Given the description of an element on the screen output the (x, y) to click on. 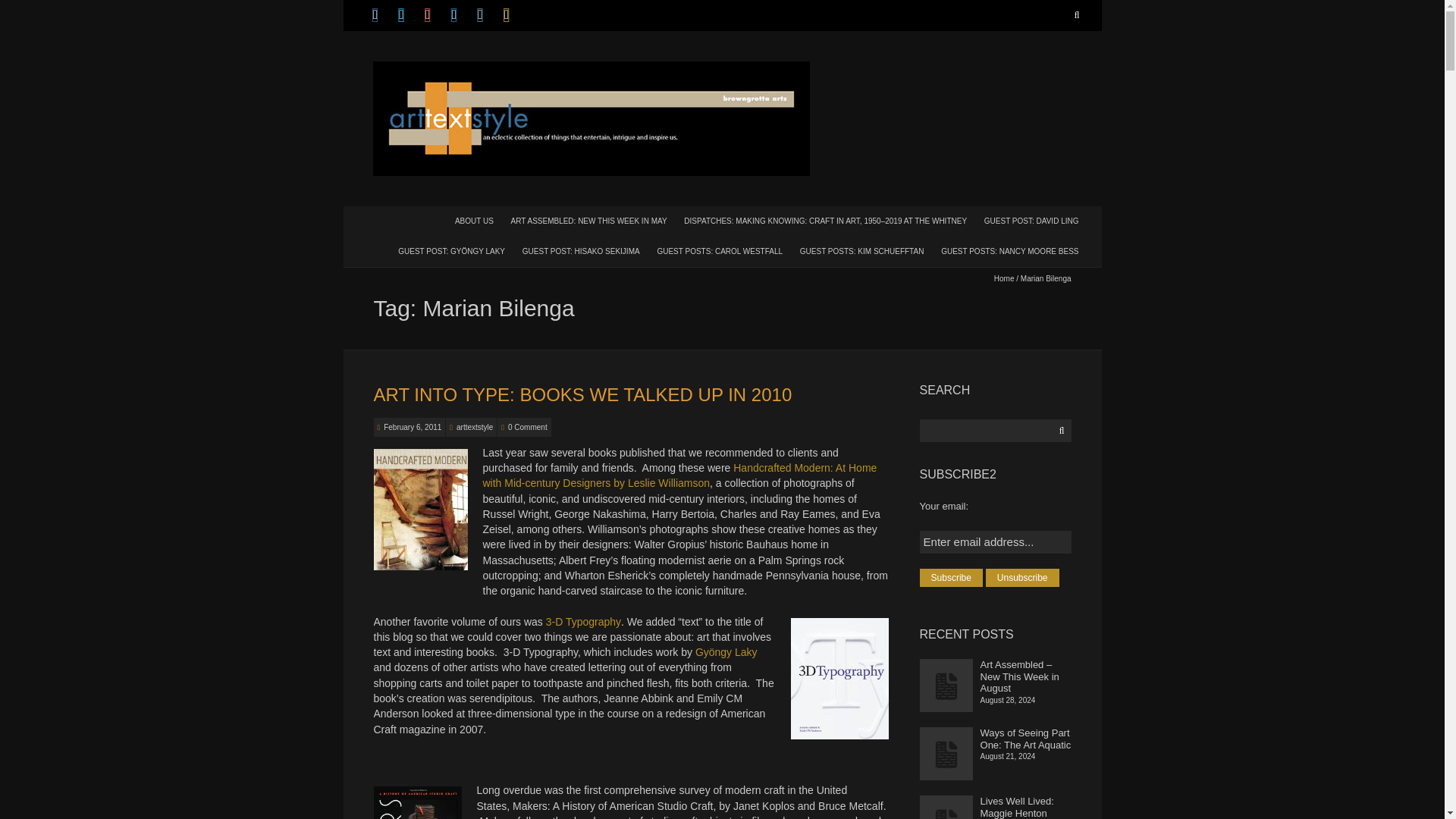
February 6, 2011 (412, 427)
Search (1074, 15)
ART INTO TYPE: BOOKS WE TALKED UP IN 2010 (582, 394)
Art into Type: Books We Talked Up in 2010 (412, 427)
Enter email address... (995, 541)
ABOUT US (473, 220)
Search (1074, 15)
GUEST POST: HISAKO SEKIJIMA (581, 250)
Home (1004, 278)
